Given the description of an element on the screen output the (x, y) to click on. 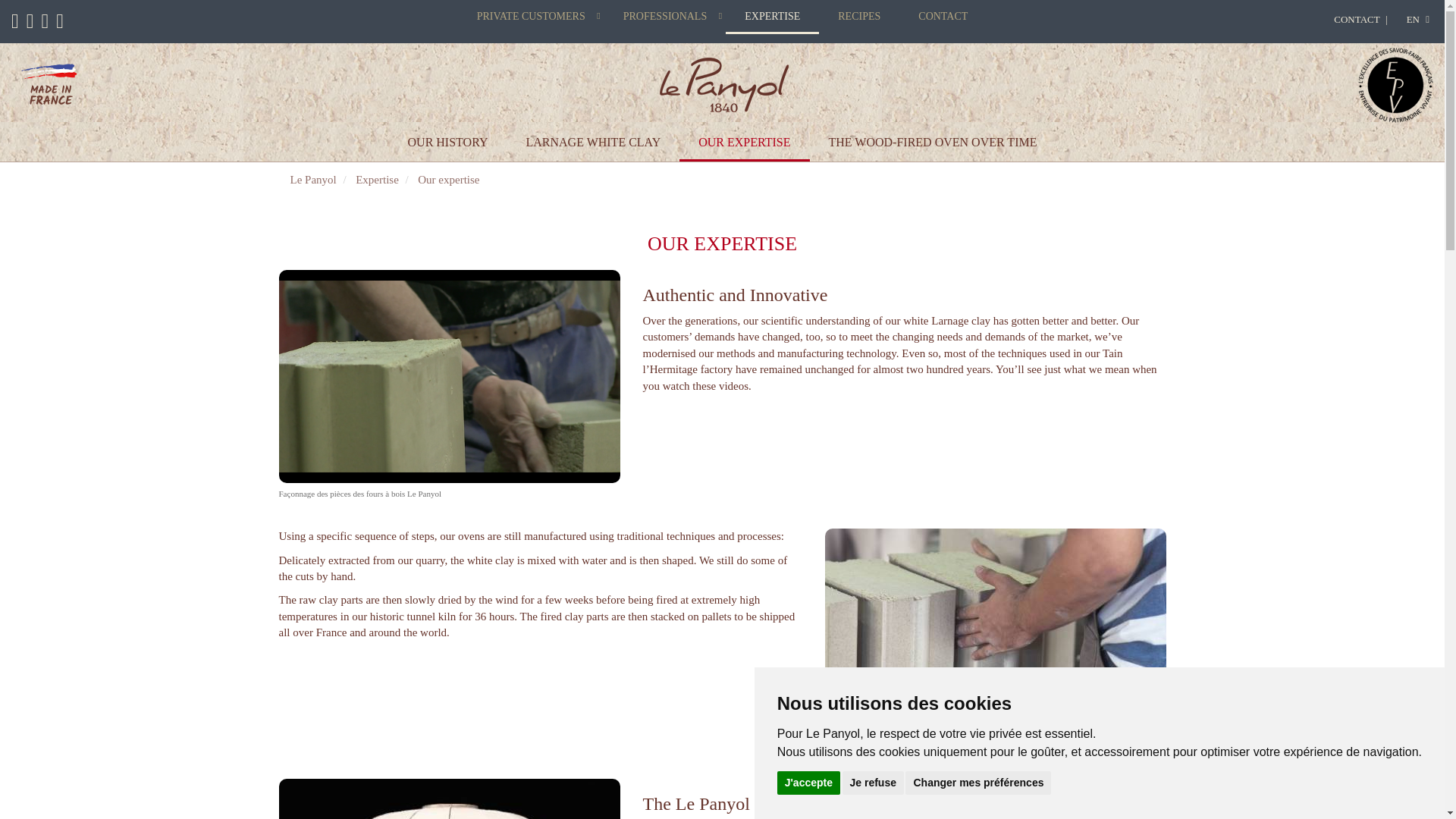
CONTACT (943, 17)
EXPERTISE (771, 17)
EPV (1394, 84)
RECIPES (858, 17)
Le Panyol professional wood-fired ovens: Quality! (664, 17)
Le Panyol (722, 84)
Je refuse (871, 781)
Le Panyol (312, 179)
J'accepte (808, 781)
Expertise (376, 179)
PROFESSIONALS (664, 17)
THE WOOD-FIRED OVEN OVER TIME (933, 143)
OUR HISTORY (447, 143)
